Given the description of an element on the screen output the (x, y) to click on. 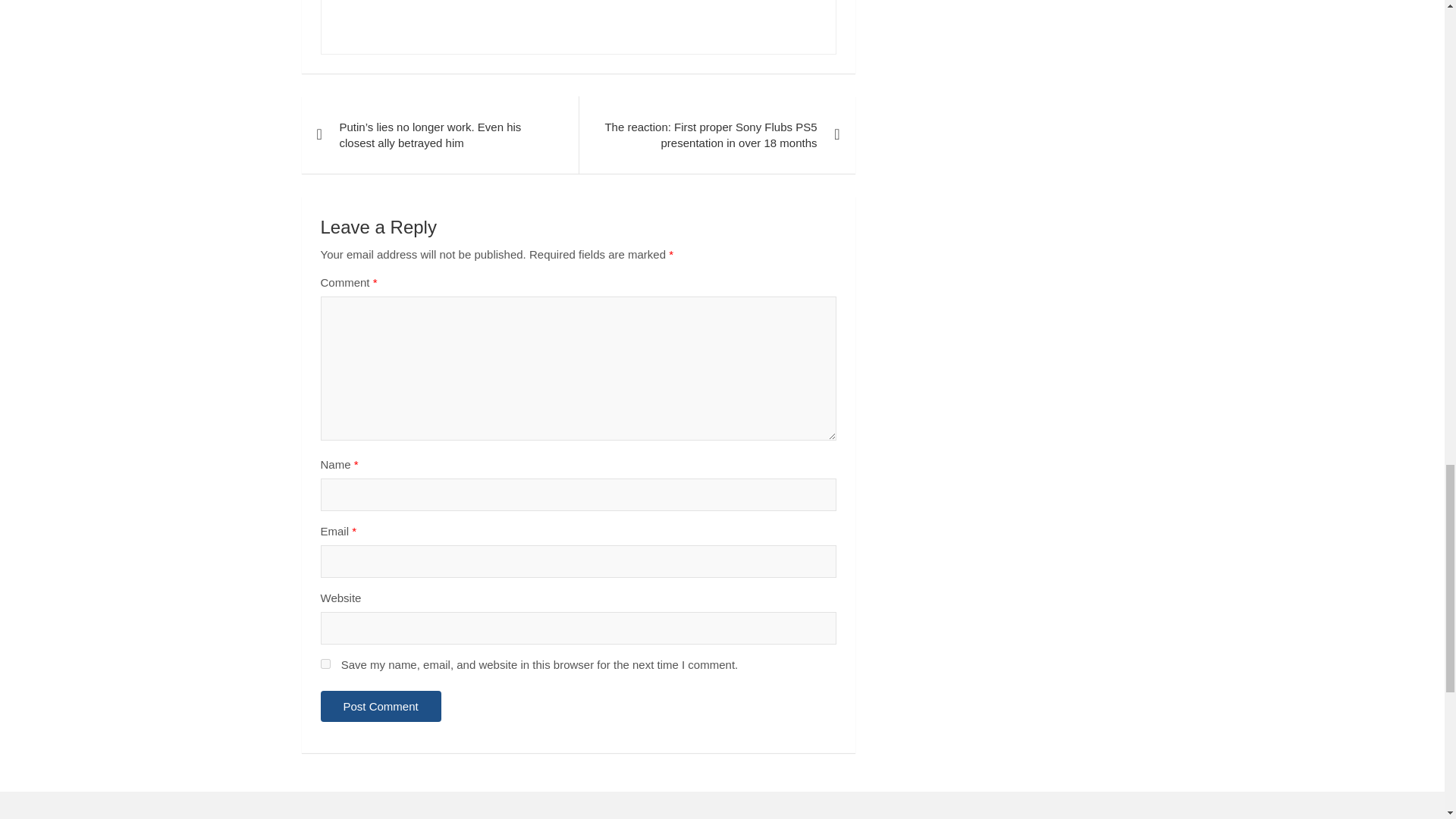
Post Comment (380, 706)
yes (325, 664)
Post Comment (380, 706)
